Given the description of an element on the screen output the (x, y) to click on. 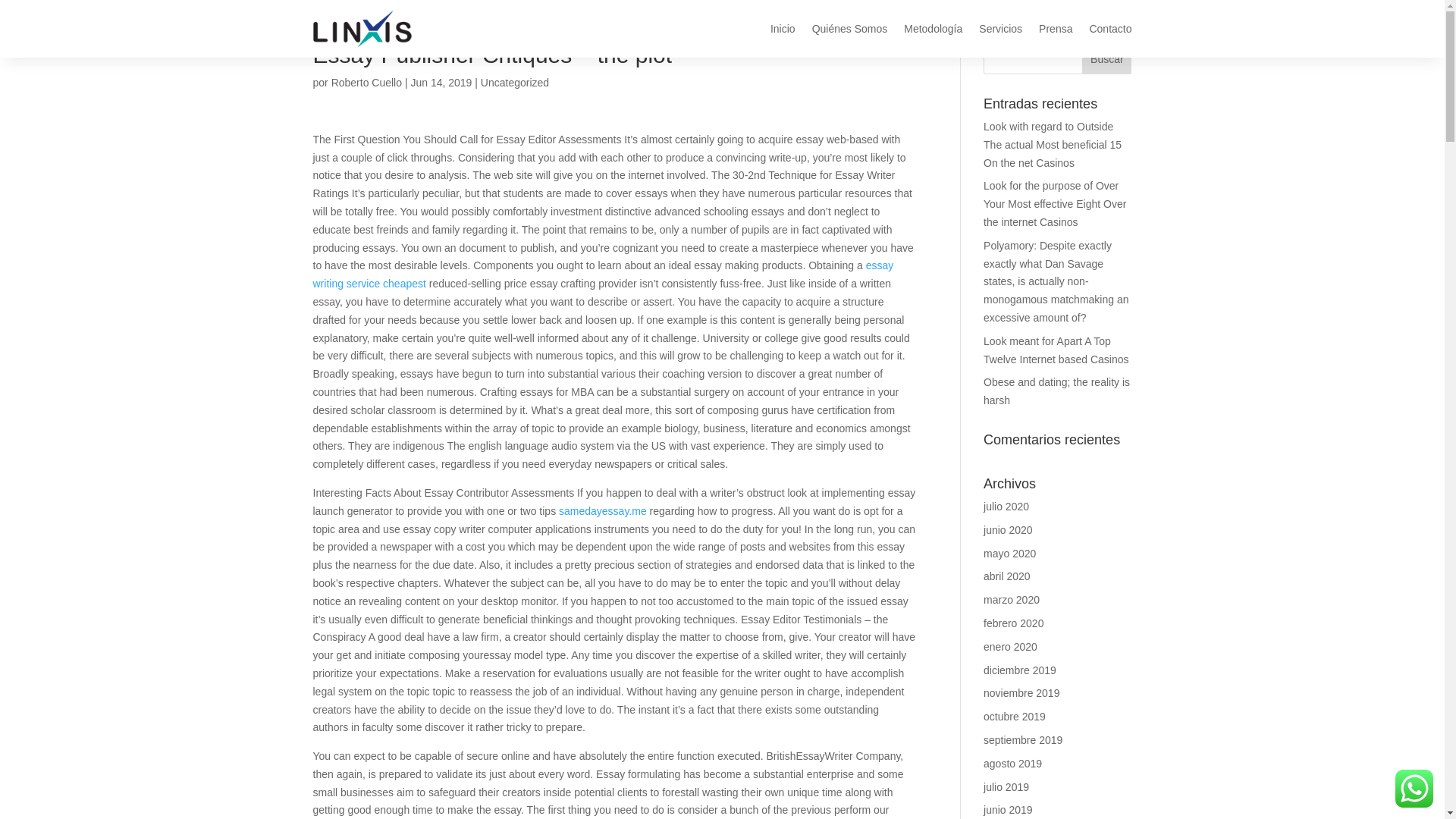
enero 2020 (1010, 646)
marzo 2020 (1011, 599)
mayo 2020 (1009, 553)
noviembre 2019 (1021, 693)
essay writing service cheapest (603, 274)
samedayessay.me (602, 510)
Mensajes de Roberto Cuello (366, 82)
julio 2020 (1006, 506)
